Given the description of an element on the screen output the (x, y) to click on. 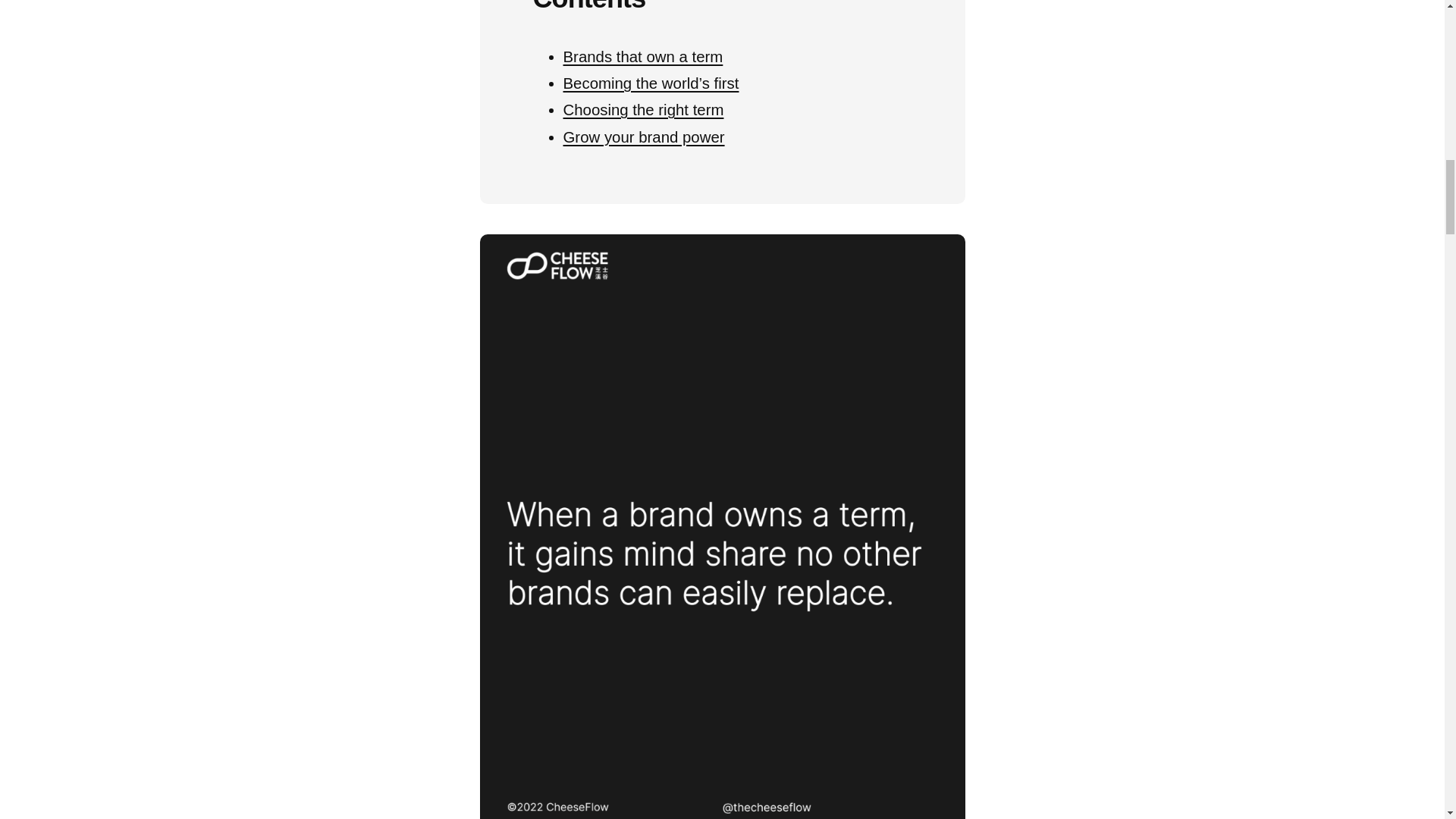
Brands that own a term (642, 56)
Grow your brand power (642, 136)
Choosing the right term (642, 109)
